Given the description of an element on the screen output the (x, y) to click on. 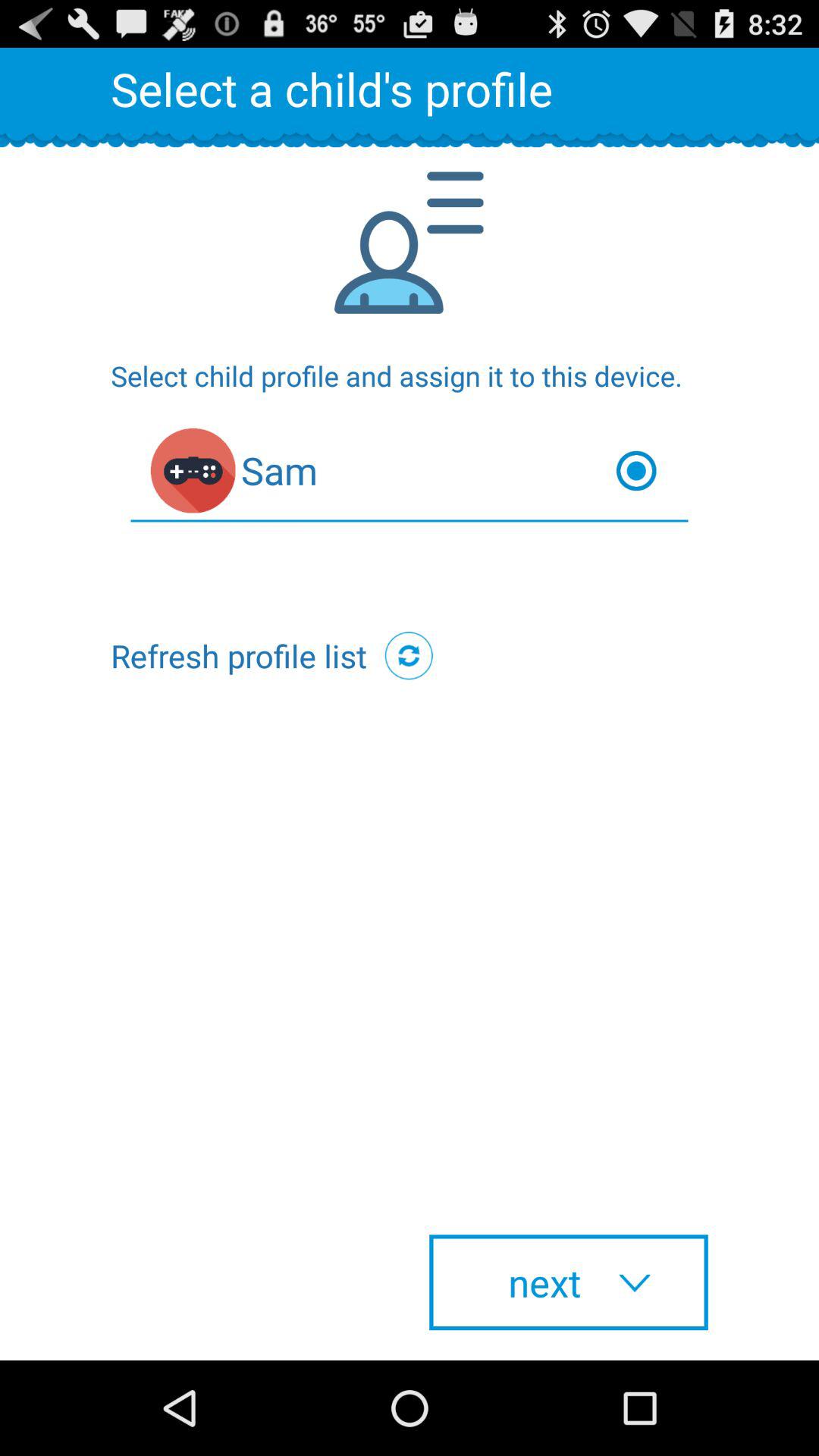
launch sam radio button (409, 474)
